Given the description of an element on the screen output the (x, y) to click on. 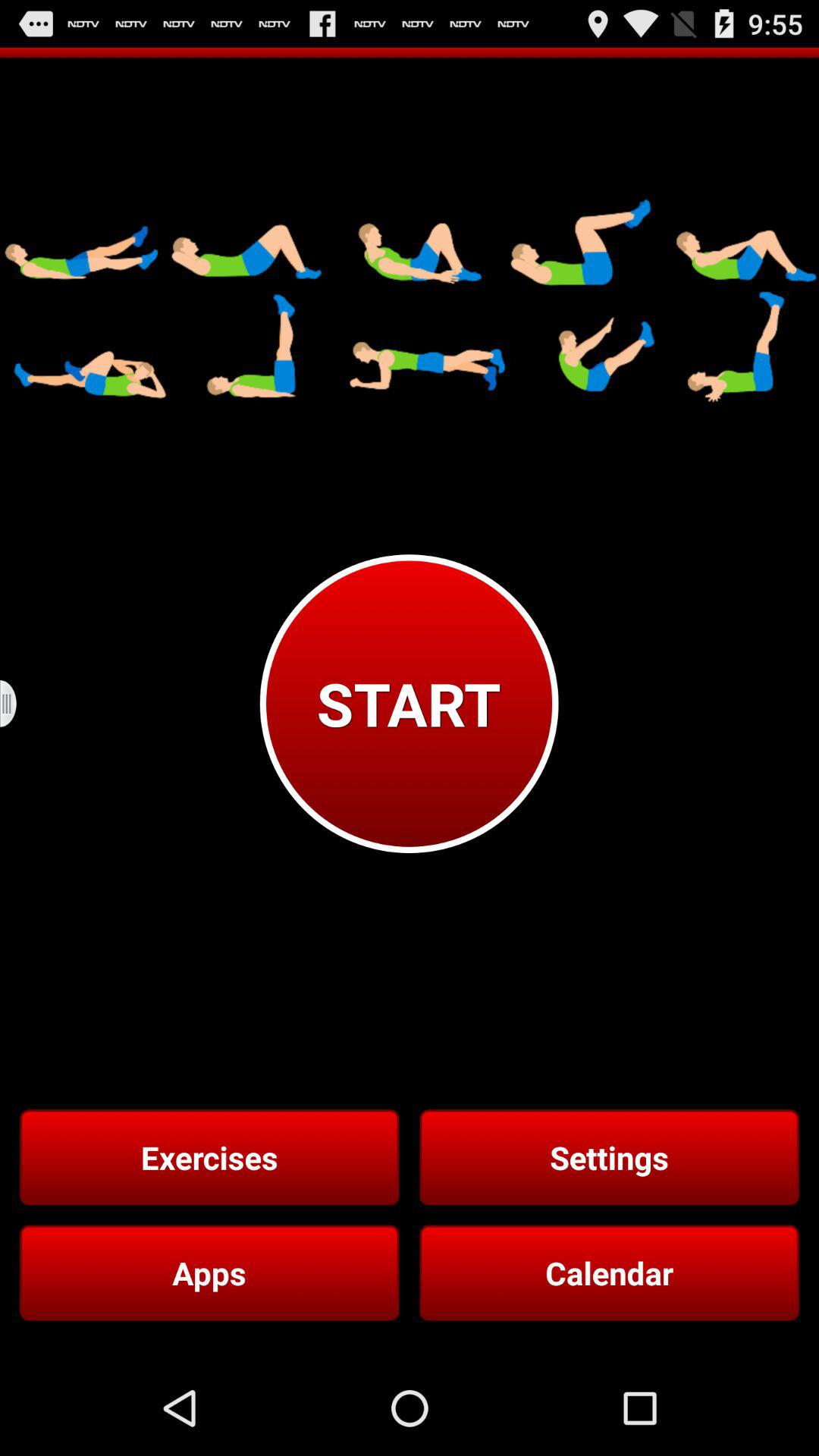
click the button at the center (408, 703)
